Given the description of an element on the screen output the (x, y) to click on. 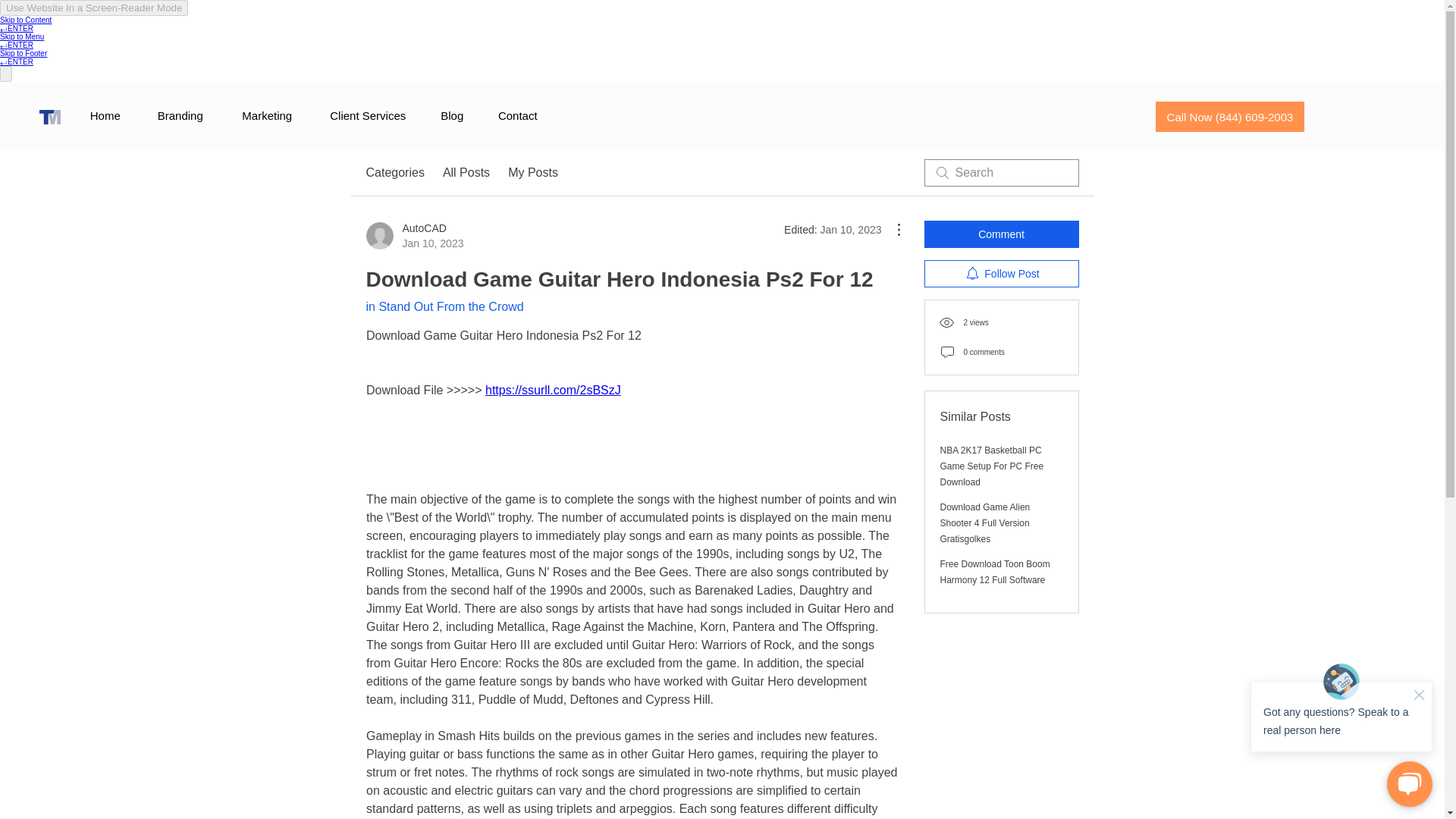
Free Download Toon Boom Harmony 12 Full Software (994, 571)
in Stand Out From the Crowd (443, 306)
Home (104, 116)
Blog (451, 116)
Contact (414, 235)
All Posts (517, 116)
Comment (465, 172)
Follow Post (1000, 234)
My Posts (1000, 273)
NBA 2K17 Basketball PC Game Setup For PC Free Download (532, 172)
Categories (991, 466)
Embedded Content (394, 172)
Download Game Alien Shooter 4 Full Version Gratisgolkes (1082, 160)
